Given the description of an element on the screen output the (x, y) to click on. 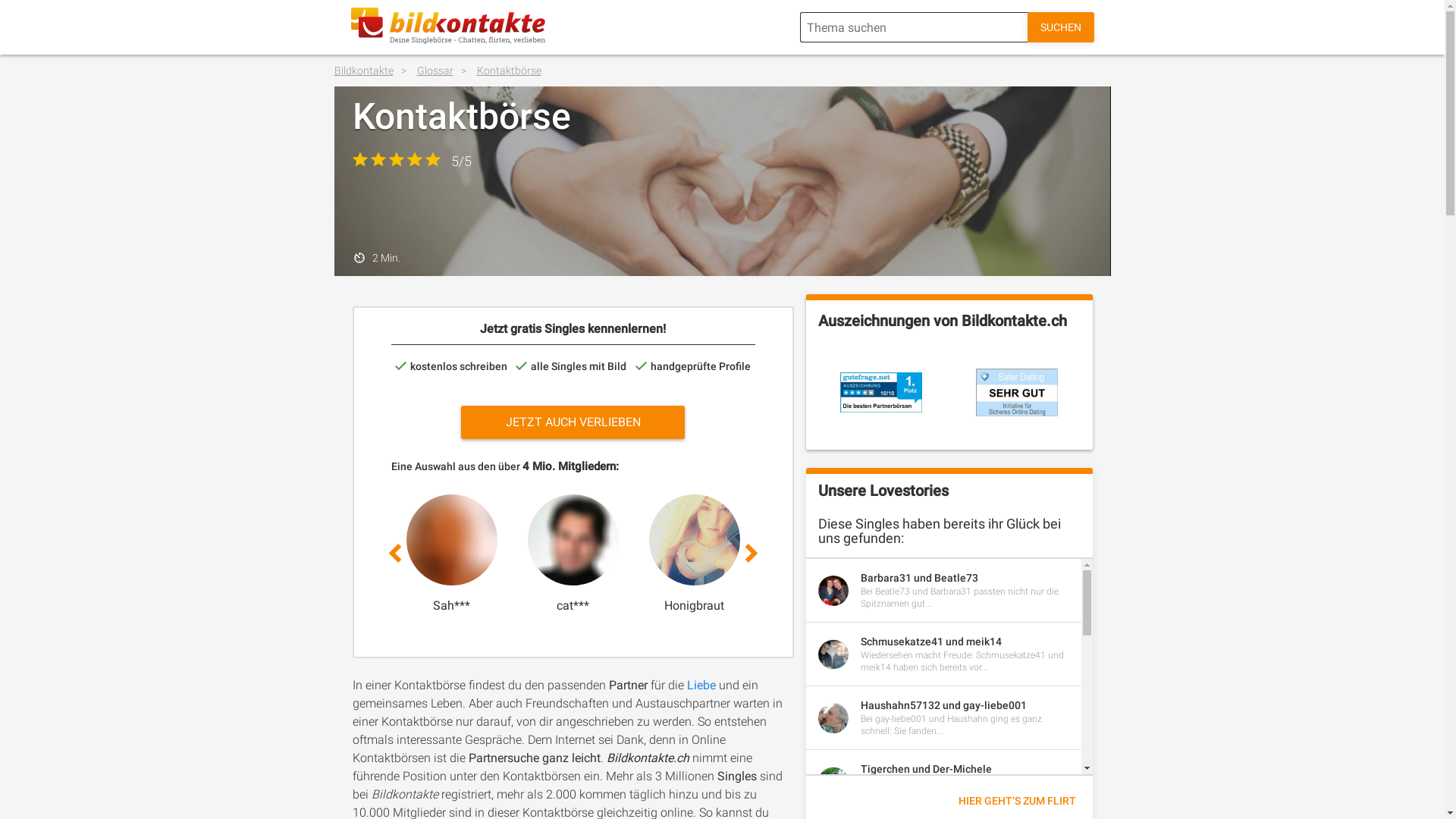
0 Element type: text (1300, 553)
Honigbraut Element type: text (694, 553)
alle Singles mit Bild Element type: text (570, 366)
JETZT AUCH VERLIEBEN Element type: text (572, 422)
Bildkontakte Element type: text (373, 70)
Sah*** Element type: text (451, 553)
SUCHEN Element type: text (1060, 27)
Liebe Element type: text (702, 684)
SUCHEN Element type: text (1059, 27)
cat*** Element type: text (572, 553)
cat*** Element type: text (572, 605)
0 Element type: text (815, 553)
0 Element type: text (1179, 553)
kostenlos schreiben Element type: text (451, 366)
Honigbraut Element type: text (694, 605)
0 Element type: text (1058, 553)
Sah*** Element type: text (451, 605)
Glossar Element type: text (446, 70)
0 Element type: text (936, 553)
